Given the description of an element on the screen output the (x, y) to click on. 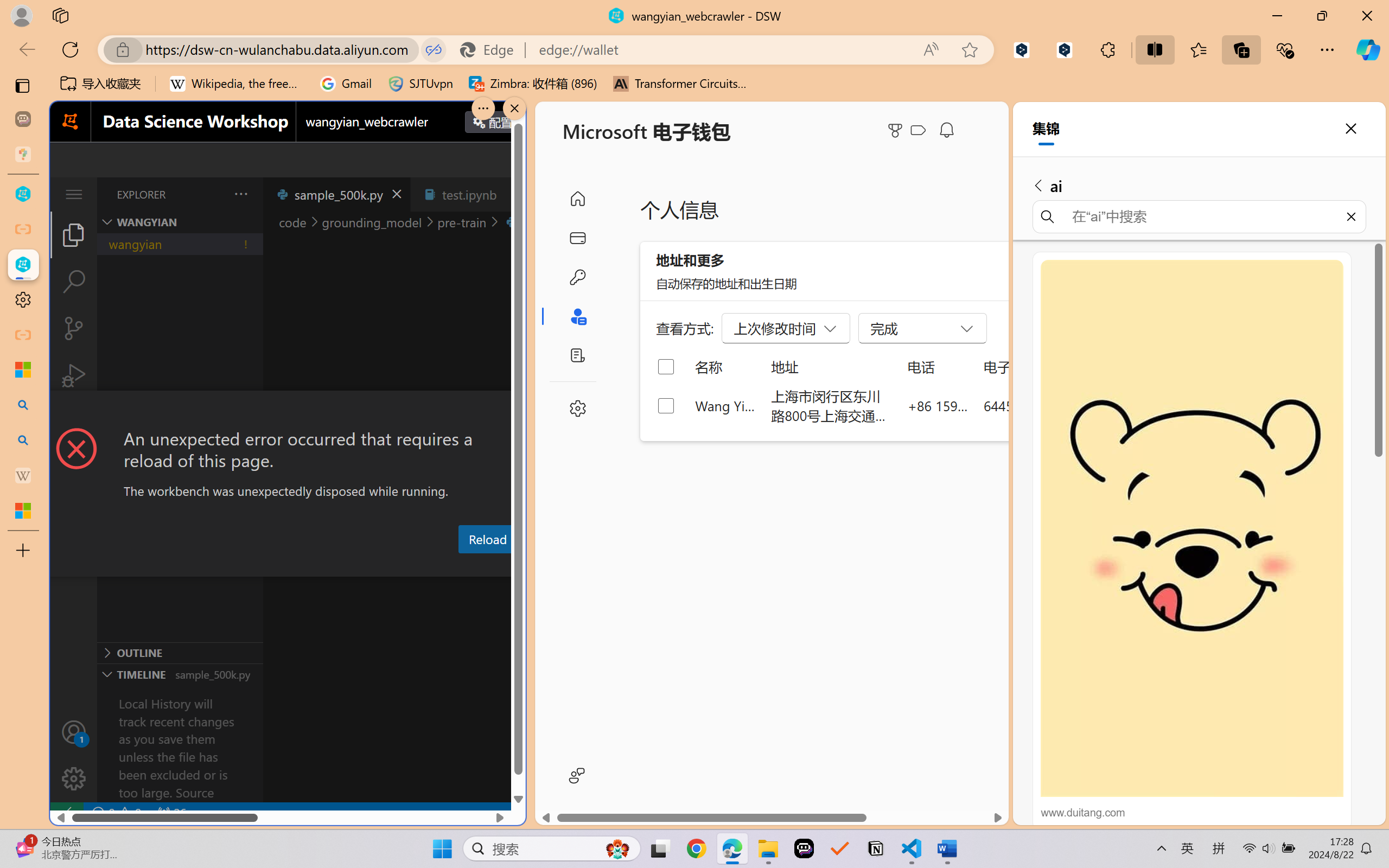
Output (Ctrl+Shift+U) (377, 565)
Timeline Section (179, 673)
Explorer (Ctrl+Shift+E) (73, 234)
Edge (492, 49)
Explorer actions (212, 194)
